Given the description of an element on the screen output the (x, y) to click on. 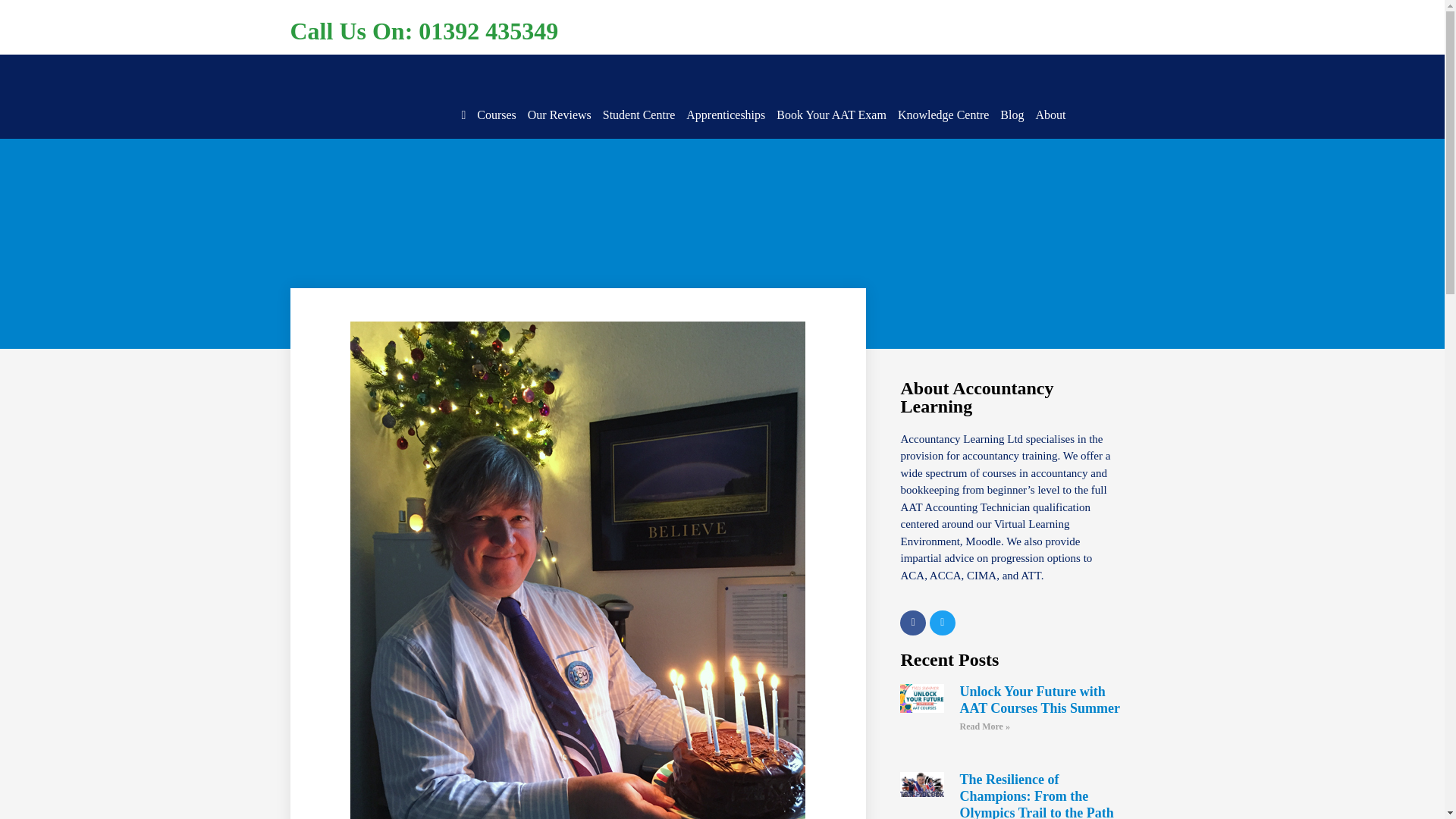
Apprenticeships (725, 115)
Student Centre (638, 115)
Knowledge Centre (943, 115)
About (1050, 115)
Courses (496, 115)
Call Us On: 01392 435349 (423, 31)
Book Your AAT Exam (831, 115)
Our Reviews (559, 115)
